Given the description of an element on the screen output the (x, y) to click on. 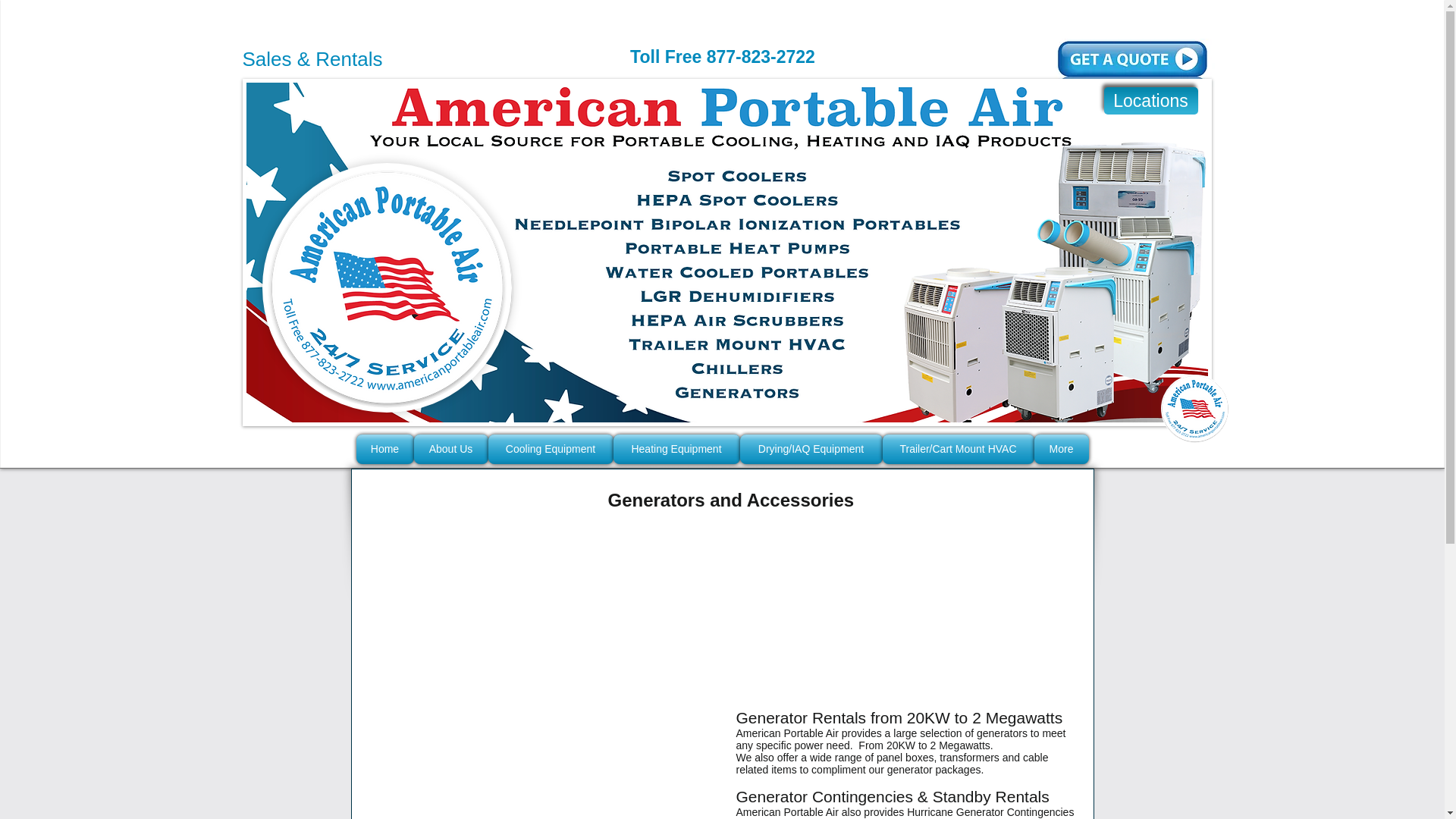
Heating Equipment (675, 449)
Logo (387, 287)
Cooling Equipment (549, 449)
About Us (450, 449)
24 Hour Service (1194, 408)
Locations (1150, 100)
Home (384, 449)
Get A Quote (1131, 64)
